Given the description of an element on the screen output the (x, y) to click on. 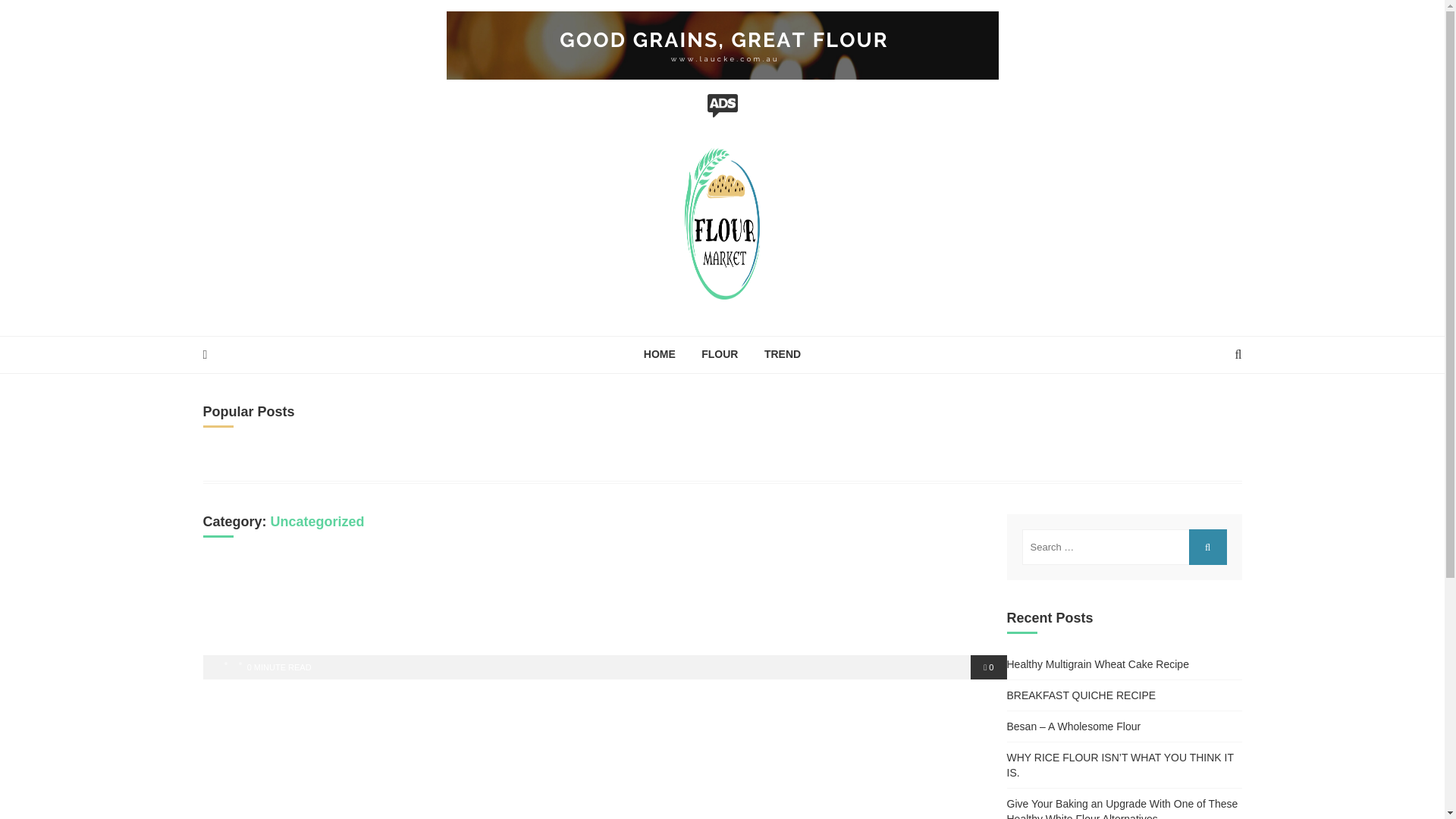
Healthy Multigrain Wheat Cake Recipe Element type: text (1098, 663)
SEARCH Element type: text (1207, 546)
TREND Element type: text (782, 353)
HOME Element type: text (659, 353)
BREAKFAST QUICHE RECIPE Element type: text (1081, 694)
FLOUR Element type: text (719, 353)
